Given the description of an element on the screen output the (x, y) to click on. 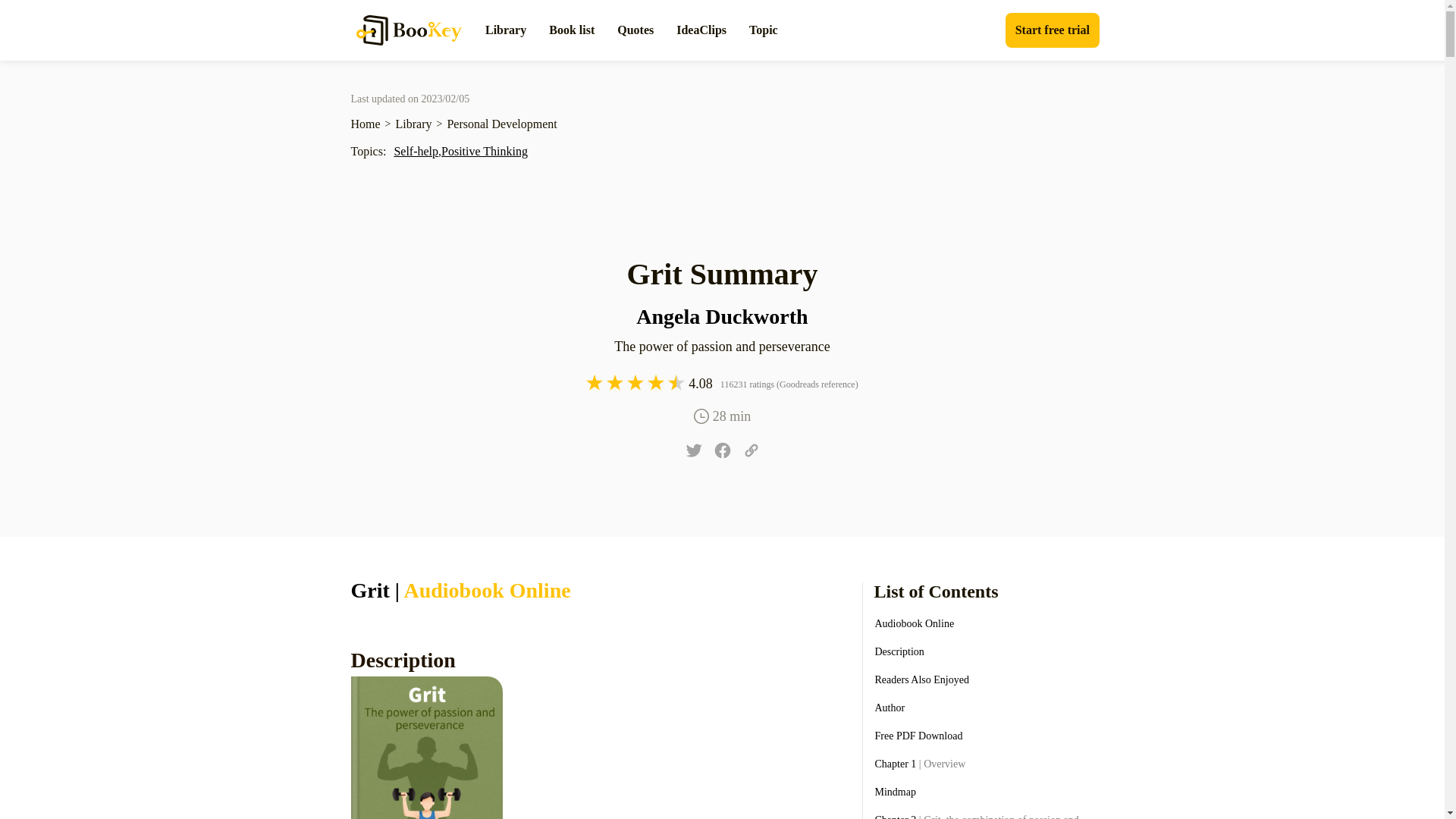
Angela Duckworth (722, 316)
Angela Duckworth Quotes (722, 316)
Topic (763, 30)
Personal Development (501, 124)
Home (365, 124)
Positive Thinking (484, 150)
IdeaClips (701, 30)
Quotes (635, 30)
Library (414, 124)
Library (504, 30)
Book list (571, 30)
Self-help (415, 150)
Audiobook Online (915, 623)
